Given the description of an element on the screen output the (x, y) to click on. 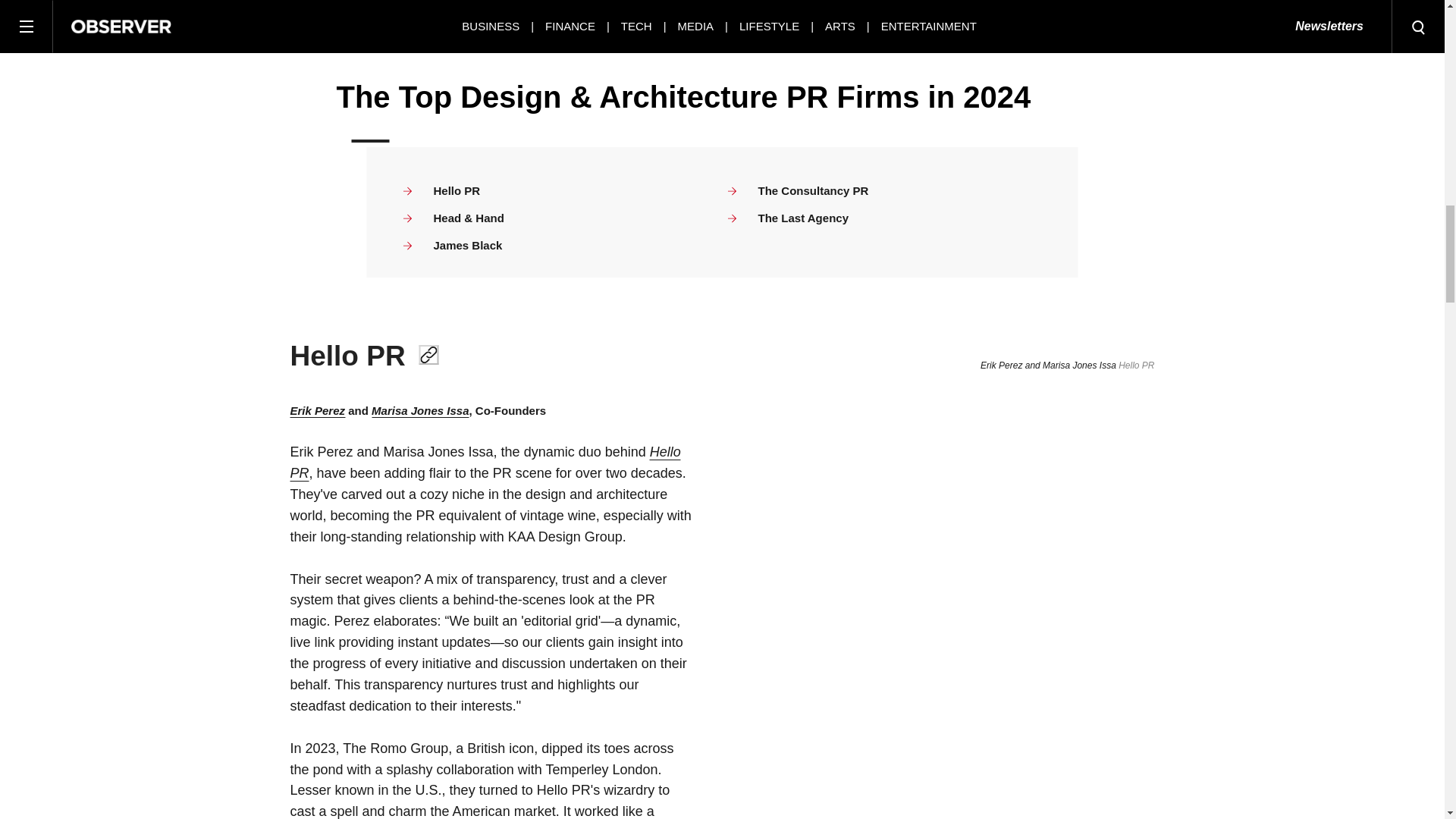
Hello PR (484, 462)
Marisa Jones Issa (419, 410)
Erik Perez (317, 410)
